Given the description of an element on the screen output the (x, y) to click on. 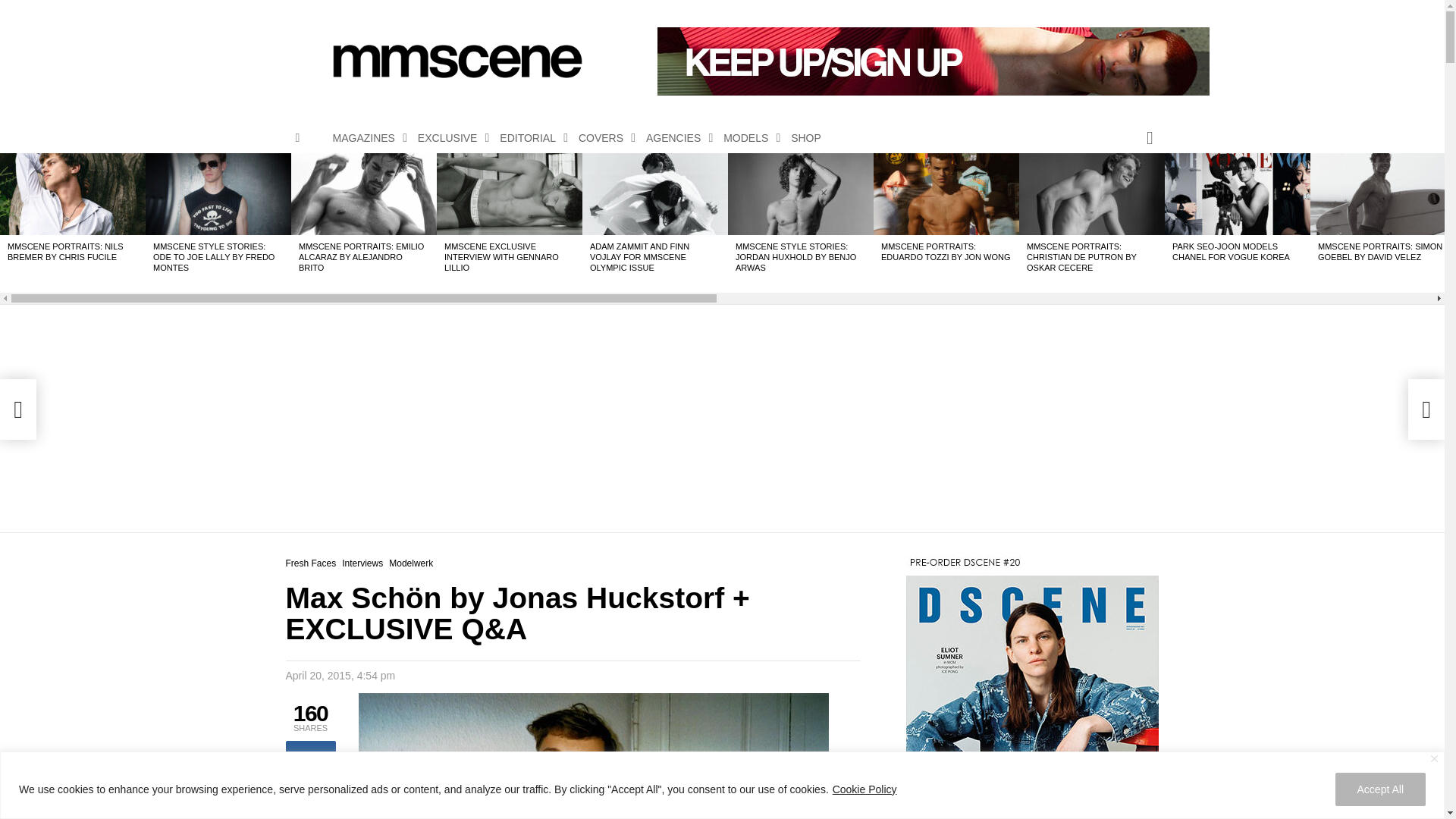
COVERS (602, 137)
EXCLUSIVE (449, 137)
EDITORIAL (529, 137)
MMSCENE PORTRAITS: Nils Bremer by Chris Fucile (72, 194)
MMSCENE STYLE STORIES: Ode To Joe Lally by Fredo Montes (218, 194)
Accept All (1380, 788)
Cookie Policy (864, 789)
MMSCENE PORTRAITS: Emilio Alcaraz by Alejandro Brito (363, 194)
MAGAZINES (365, 137)
Menu (296, 137)
